Given the description of an element on the screen output the (x, y) to click on. 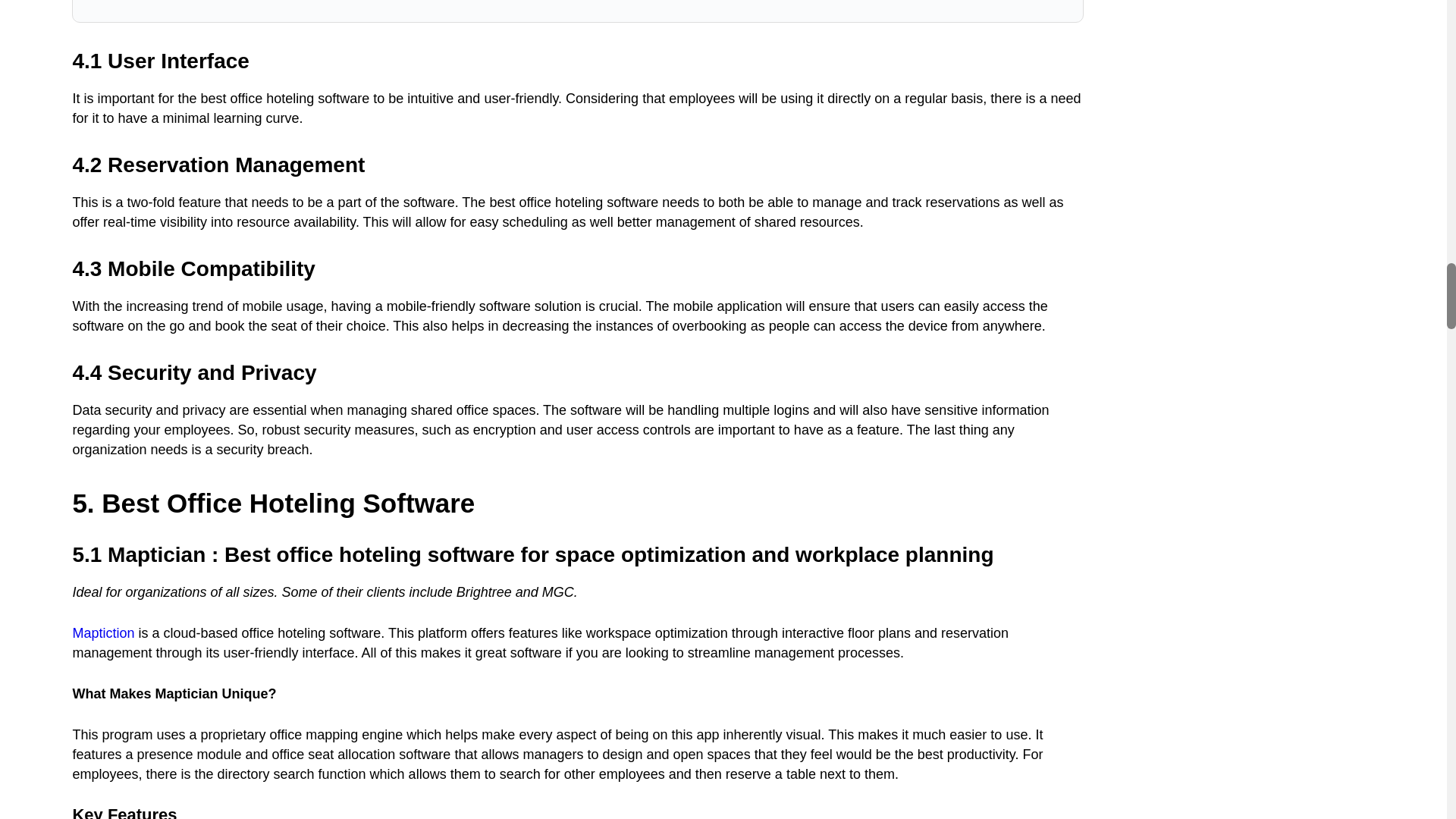
Maptiction (102, 632)
